Given the description of an element on the screen output the (x, y) to click on. 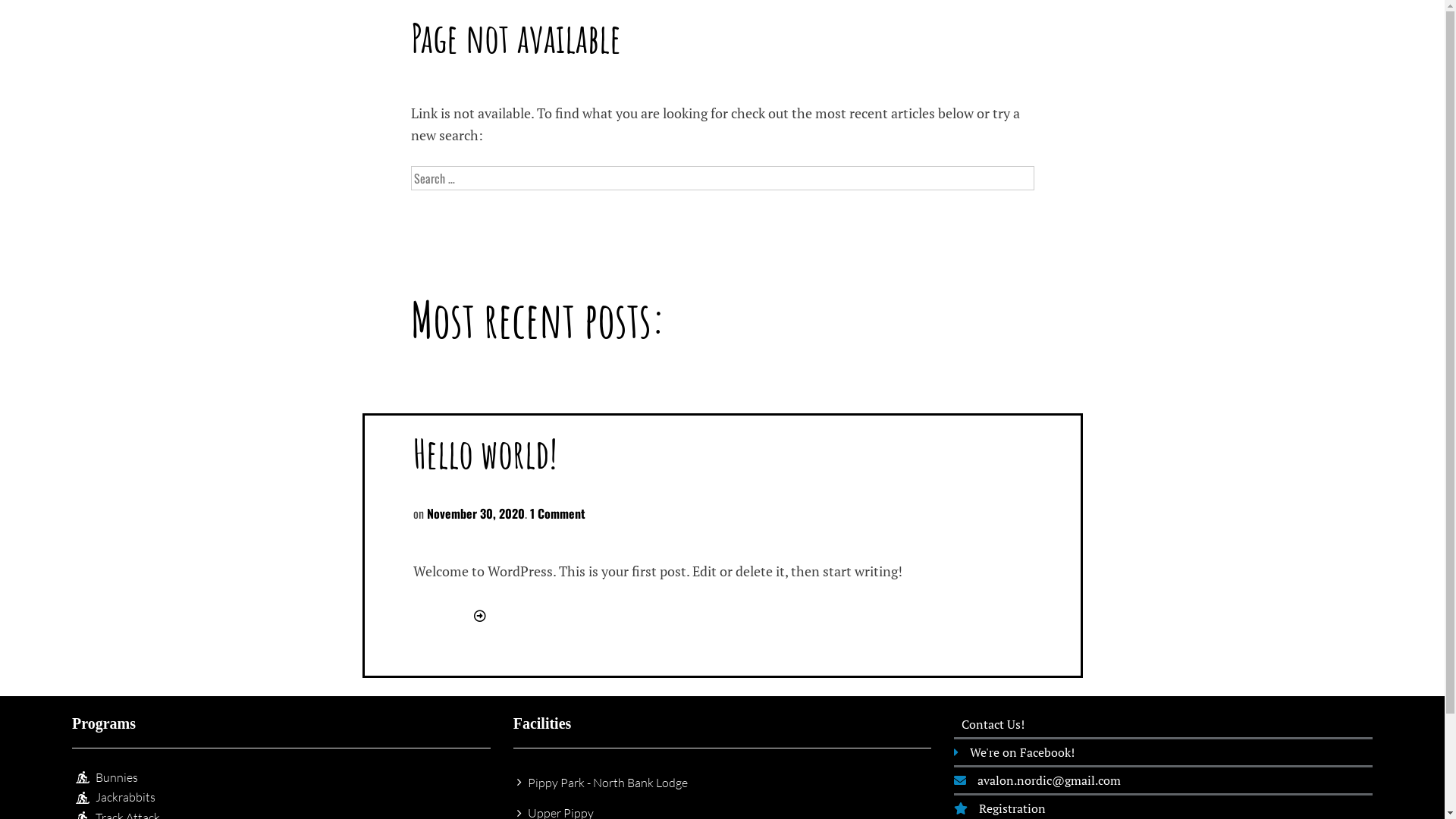
1 Comment Element type: text (556, 513)
Bunnies Element type: text (280, 777)
Pippy Park - North Bank Lodge Element type: text (722, 782)
Jackrabbits Element type: text (280, 796)
Continue Reading Hello world! Element type: hover (476, 614)
Search Element type: text (39, 18)
We're on Facebook! Element type: text (1162, 752)
November 30, 2020 Element type: text (475, 513)
Hello world! Element type: text (484, 452)
